Given the description of an element on the screen output the (x, y) to click on. 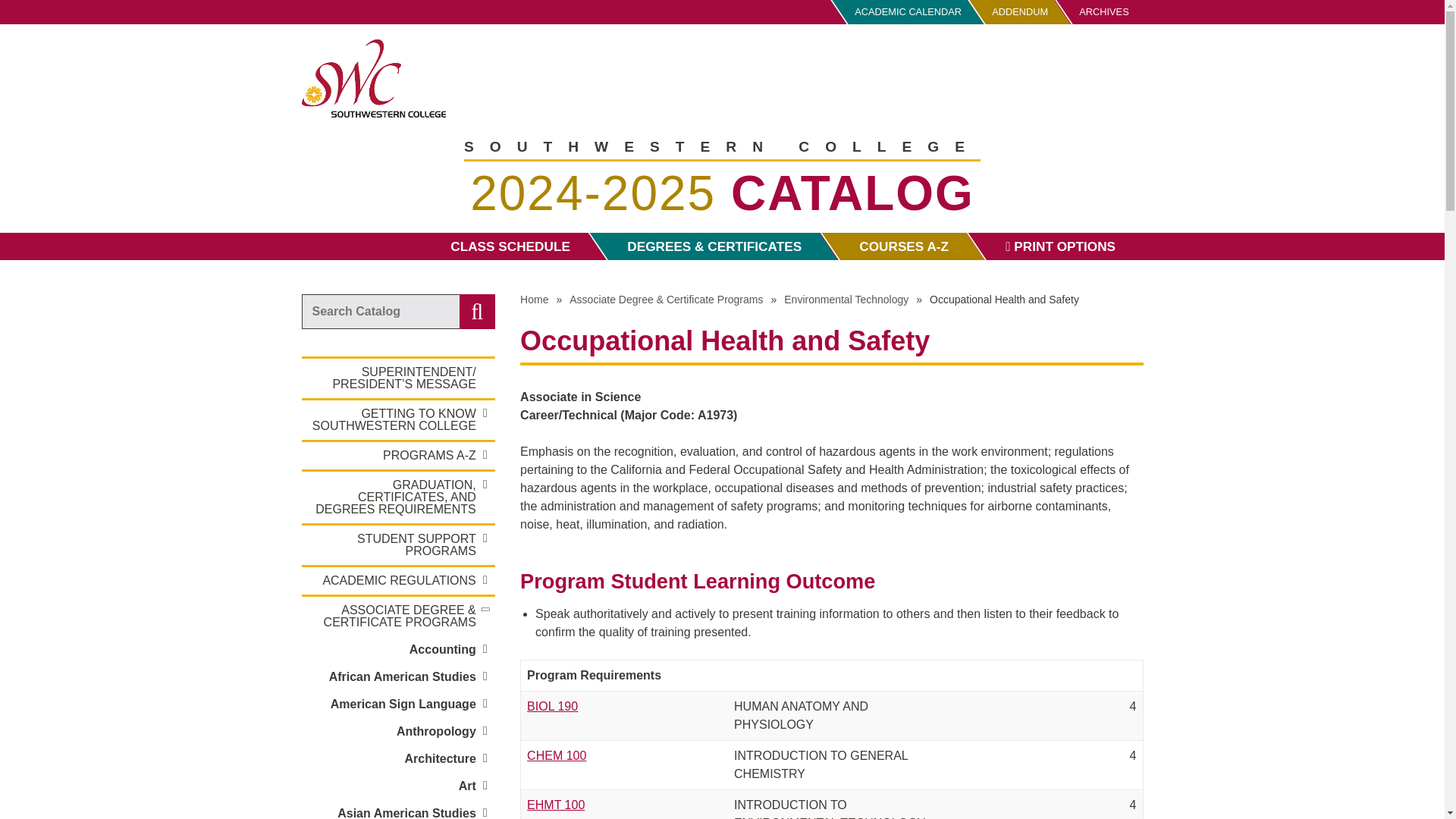
ACADEMIC REGULATIONS (398, 580)
Architecture (398, 759)
Submit search (477, 311)
GRADUATION, CERTIFICATES, AND DEGREES REQUIREMENTS (398, 497)
COURSES A-Z (893, 246)
ACADEMIC CALENDAR (898, 12)
STUDENT SUPPORT PROGRAMS (398, 545)
